Given the description of an element on the screen output the (x, y) to click on. 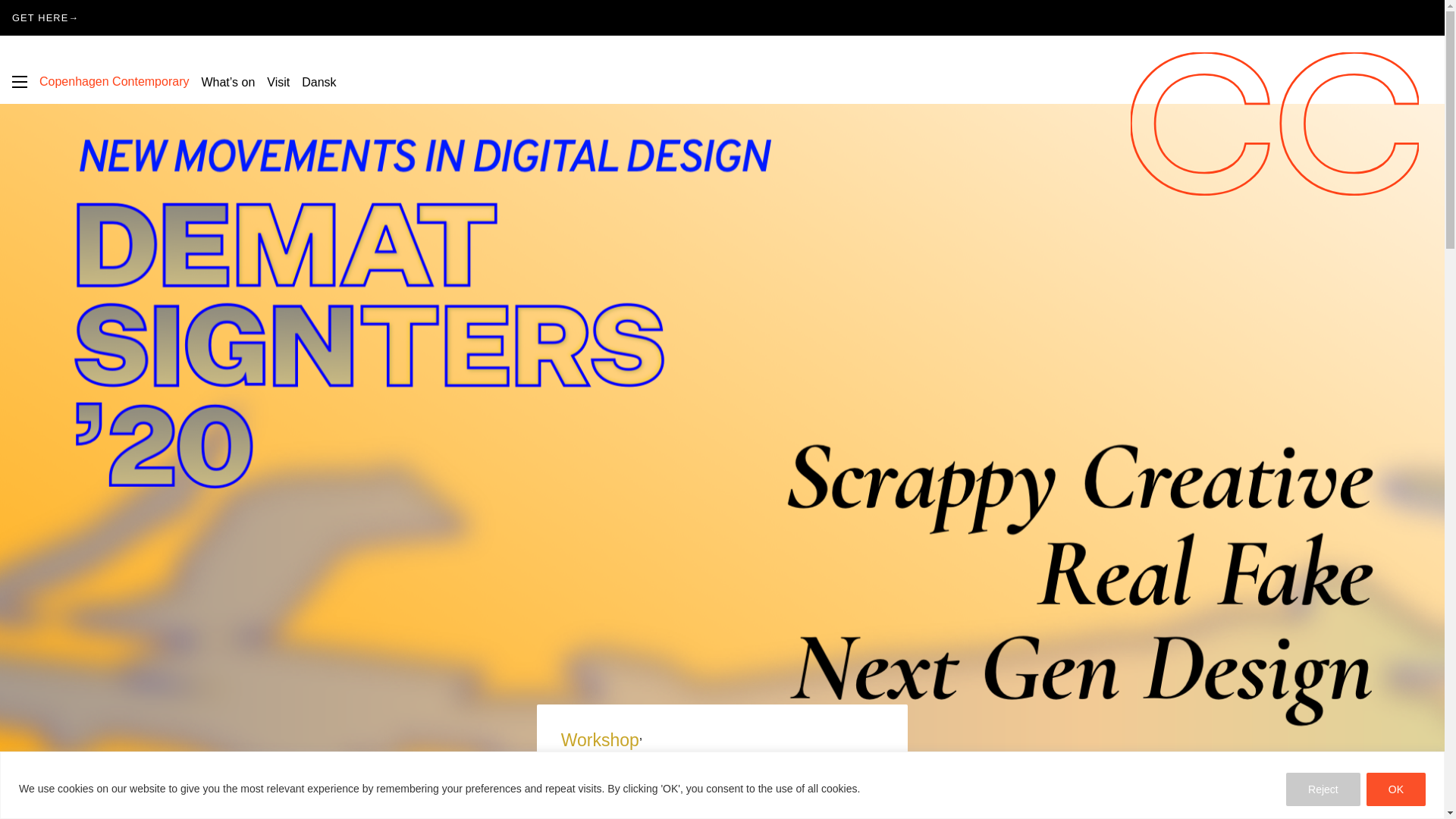
Visit (277, 82)
OK (1396, 788)
Dansk (318, 82)
Reject (1322, 788)
Dansk (318, 82)
Copenhagen Contemporary (114, 81)
